Given the description of an element on the screen output the (x, y) to click on. 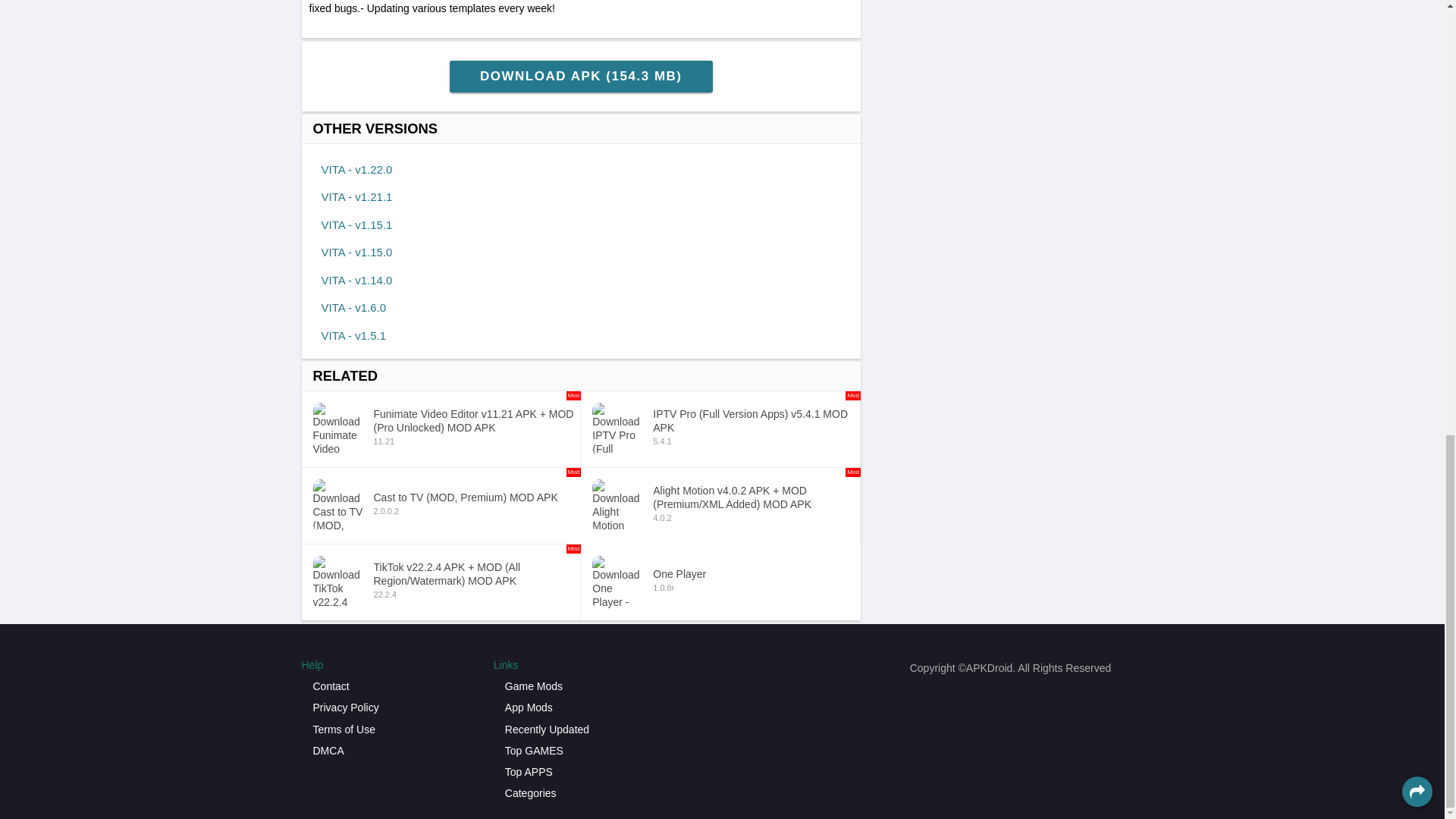
VITA - Version 1.15.0  (350, 251)
VITA - Version 1.15.1  (350, 224)
VITA - v1.5.1 (347, 335)
VITA - Version 1.21.1  (350, 196)
VITA - v1.15.1 (350, 224)
VITA - v1.6.0 (347, 307)
VITA - Version 1.22.0  (350, 169)
VITA - v1.22.0 (350, 169)
VITA - Version 1.6.0  (347, 307)
VITA - v1.21.1 (350, 196)
VITA - Version 1.14.0  (350, 279)
VITA - Version 1.5.1  (720, 581)
VITA - v1.15.0 (347, 335)
VITA - v1.14.0 (350, 251)
